Given the description of an element on the screen output the (x, y) to click on. 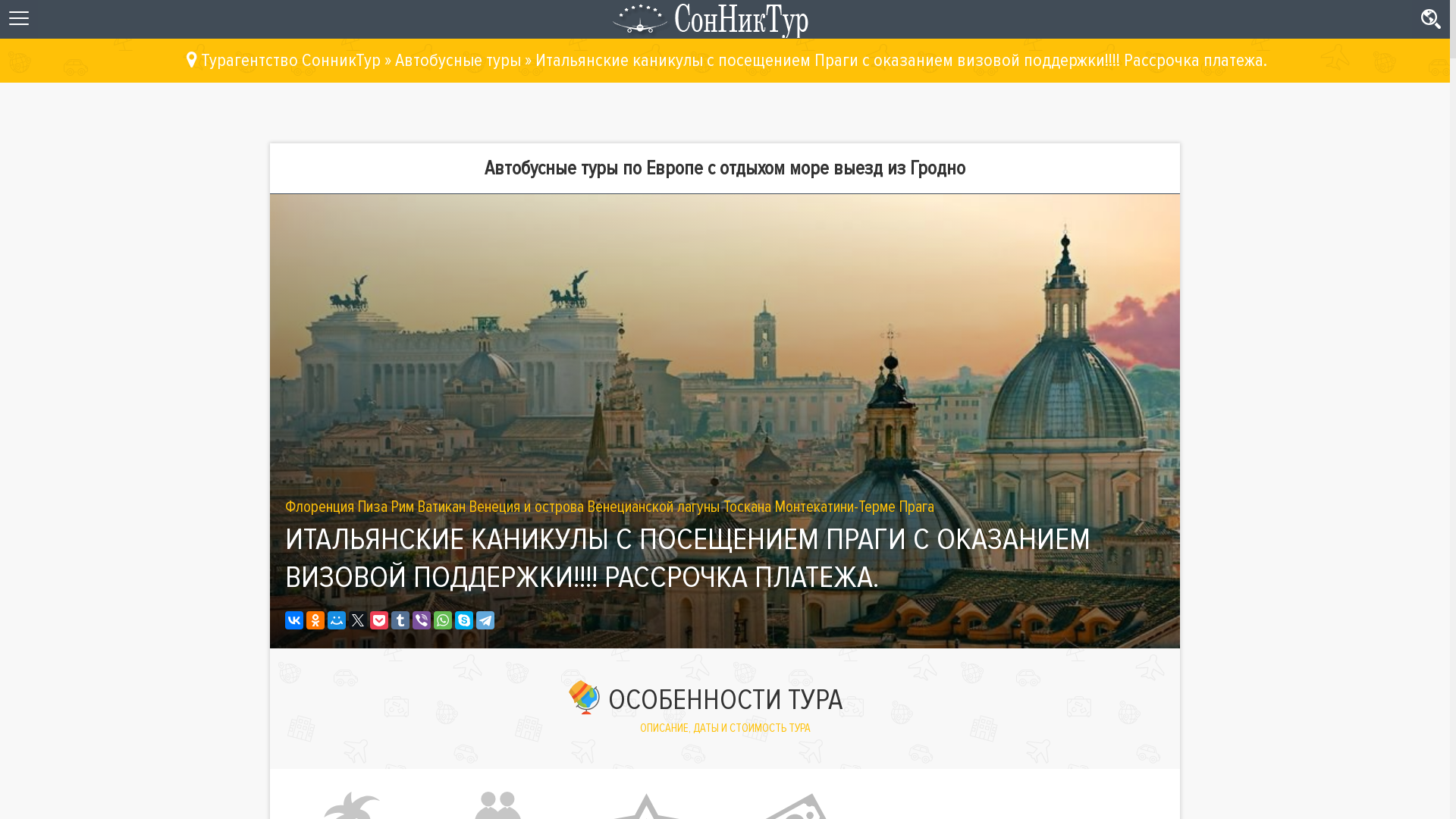
WhatsApp Element type: hover (442, 620)
Telegram Element type: hover (485, 620)
Skype Element type: hover (464, 620)
Tumblr Element type: hover (400, 620)
Viber Element type: hover (421, 620)
Pocket Element type: hover (379, 620)
Twitter Element type: hover (357, 620)
